Given the description of an element on the screen output the (x, y) to click on. 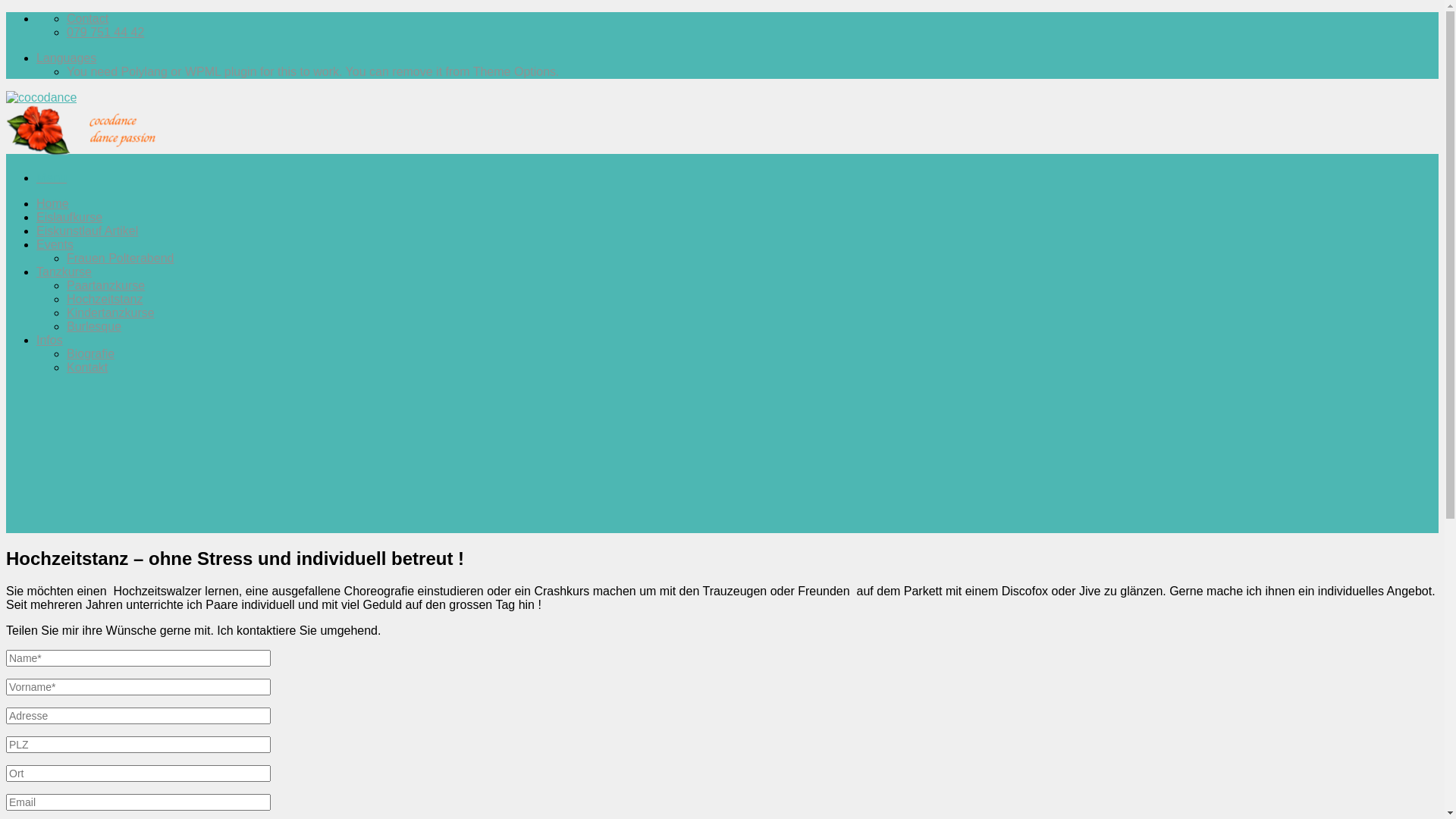
079 751 44 42 Element type: text (105, 31)
Languages Element type: text (66, 57)
Biografie Element type: text (90, 353)
Contact Element type: text (87, 18)
Frauen Polterabend Element type: text (119, 257)
Tanzkurse Element type: text (63, 271)
Burlesque Element type: text (93, 326)
Eislaufkurse Element type: text (69, 216)
Hochzeitstanz Element type: text (104, 298)
Events Element type: text (54, 244)
Menu Element type: text (51, 177)
Eiskunstlauf Artikel Element type: text (87, 230)
Paartanzkurse Element type: text (105, 285)
Kindertanzkurse Element type: text (110, 312)
Kontakt Element type: text (86, 366)
cocodance Element type: hover (81, 124)
Home Element type: text (52, 203)
Skip to content Element type: text (5, 11)
Infos Element type: text (49, 339)
